Given the description of an element on the screen output the (x, y) to click on. 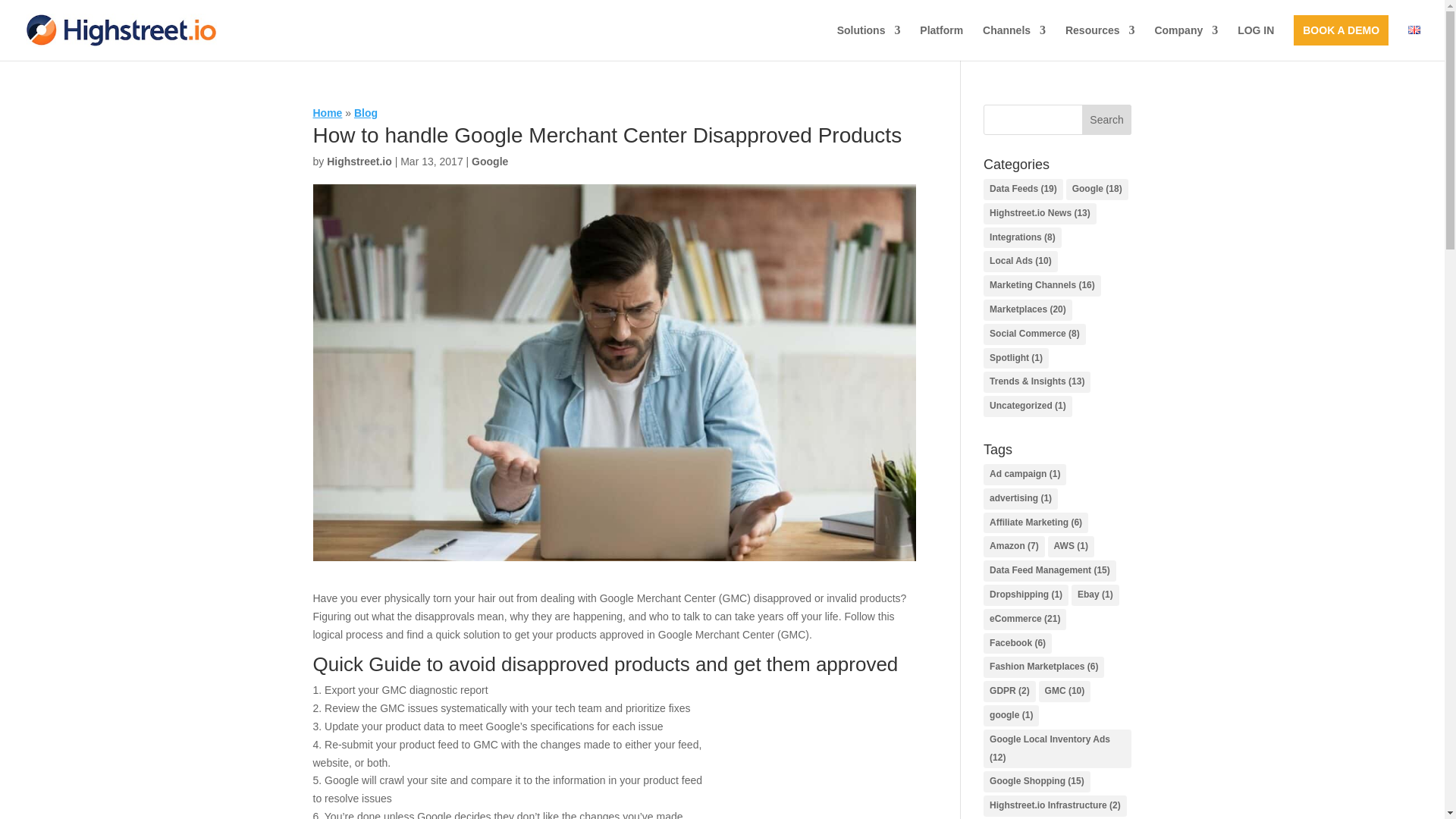
Company (1185, 42)
Home (327, 112)
LOG IN (1255, 42)
Search (1106, 119)
Blog (365, 112)
Google (489, 161)
Posts by Highstreet.io (358, 161)
Solutions (869, 42)
Resources (1100, 42)
BOOK A DEMO (1341, 42)
